Given the description of an element on the screen output the (x, y) to click on. 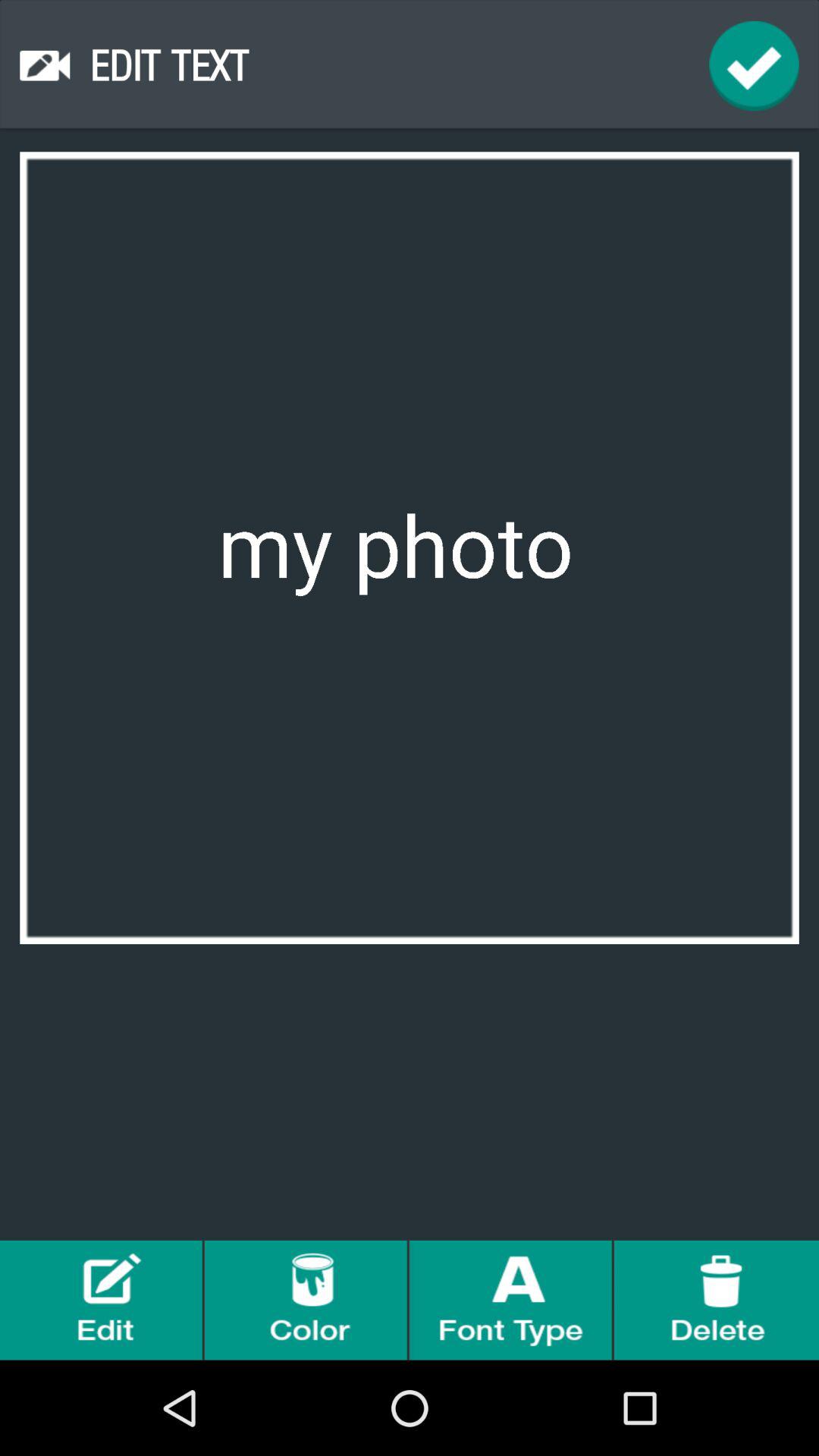
delete photo (716, 1299)
